Given the description of an element on the screen output the (x, y) to click on. 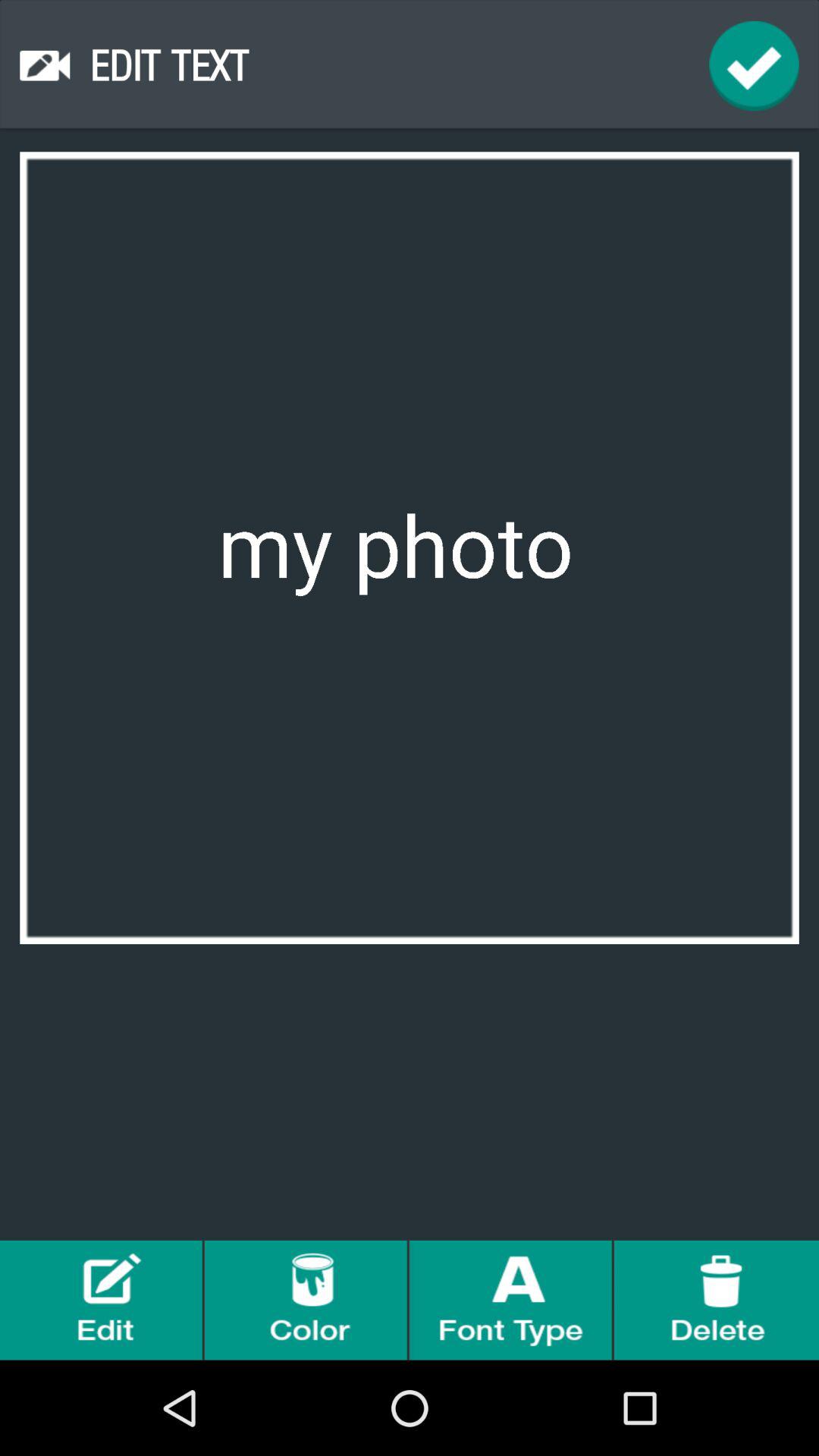
delete photo (716, 1299)
